Given the description of an element on the screen output the (x, y) to click on. 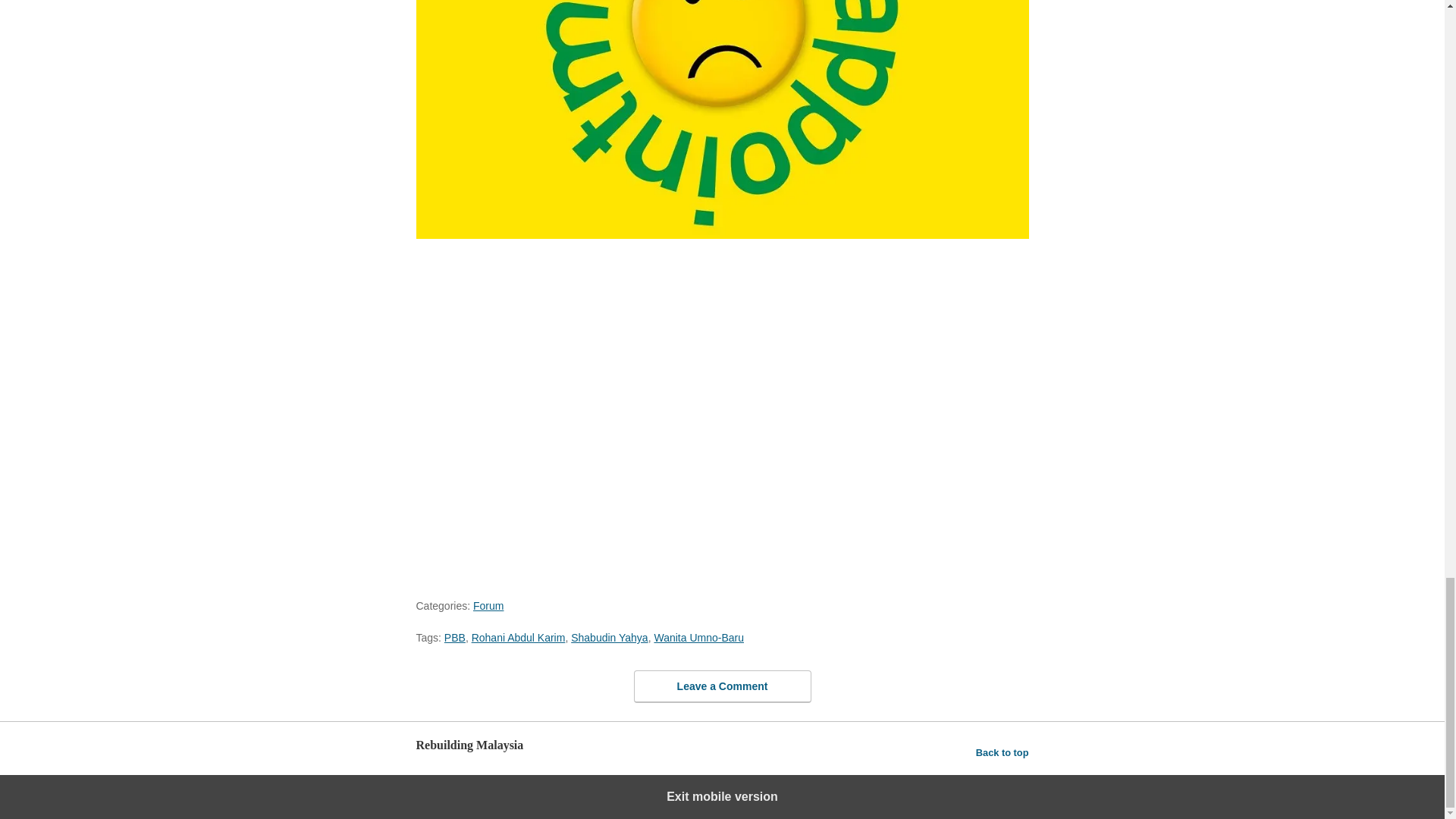
Shabudin Yahya (608, 637)
Rohani Abdul Karim (518, 637)
Forum (488, 605)
Leave a Comment (721, 686)
Wanita Umno-Baru (698, 637)
PBB (454, 637)
Back to top (1002, 752)
